Given the description of an element on the screen output the (x, y) to click on. 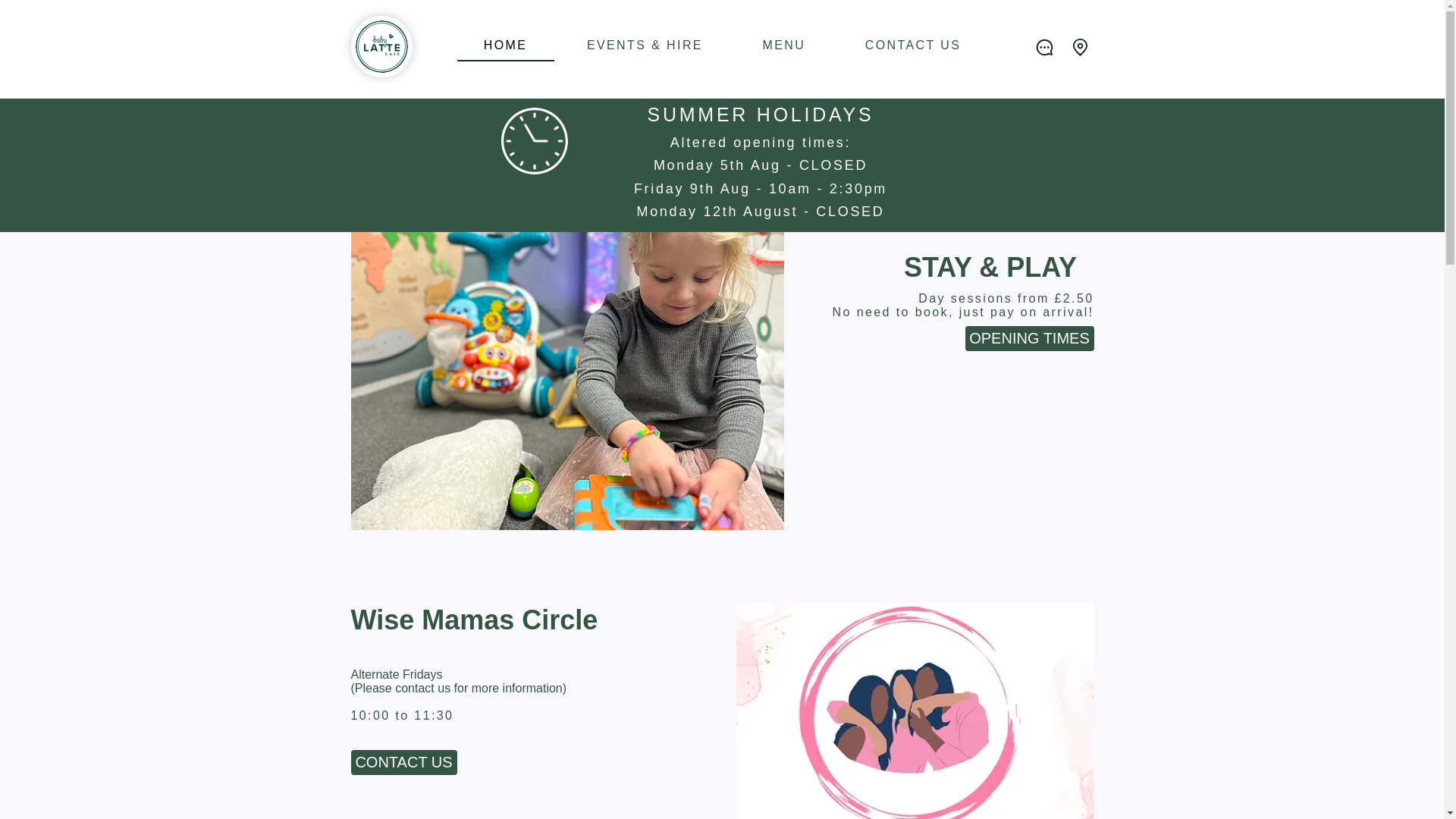
HOME (505, 46)
play group.jpg (914, 710)
CONTACT US (403, 762)
CONTACT US (912, 46)
MENU (783, 46)
OPENING TIMES (1028, 338)
